Given the description of an element on the screen output the (x, y) to click on. 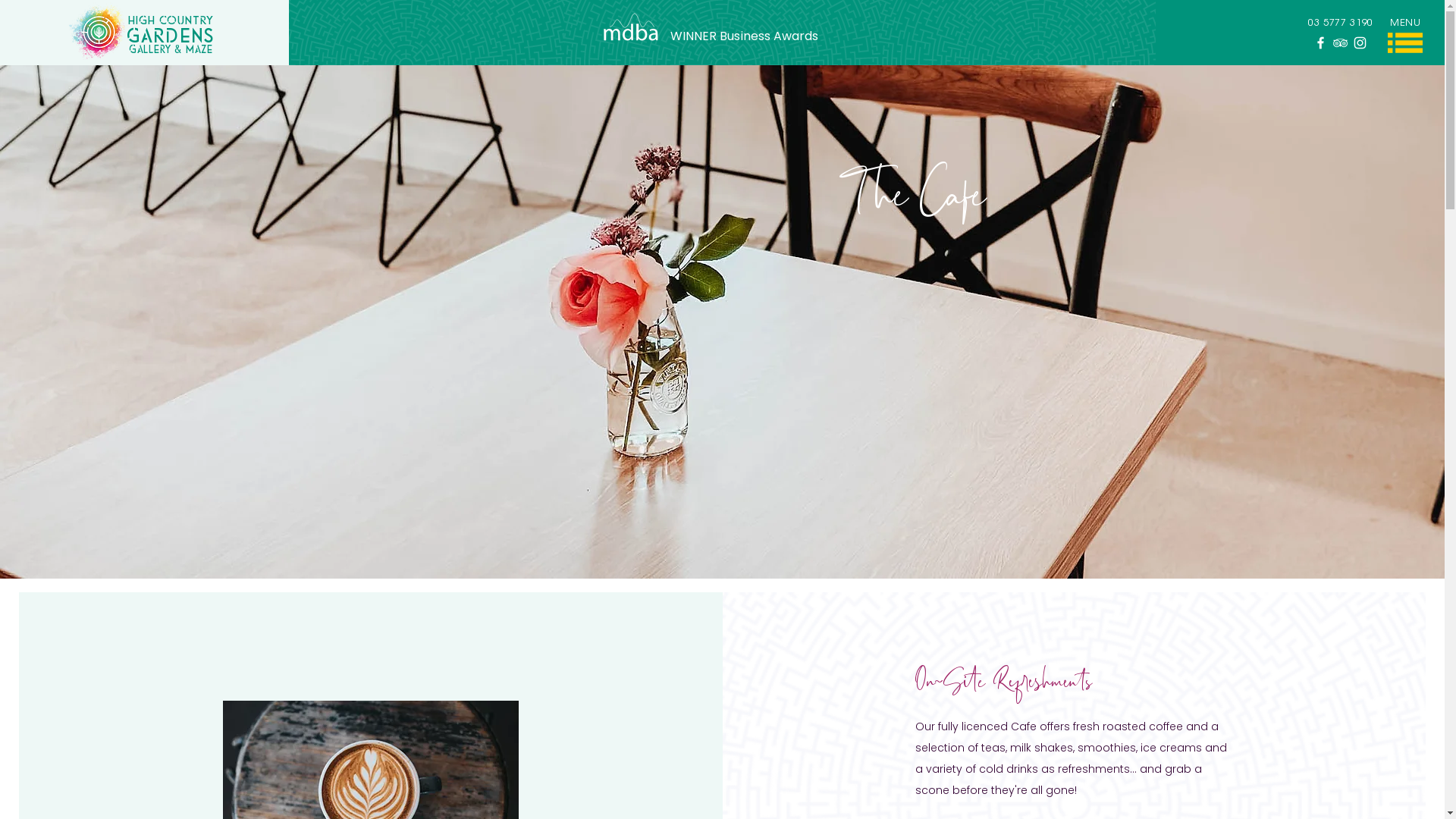
GARDENS Element type: text (170, 34)
MENU Element type: text (1405, 22)
03 5777 3190 Element type: text (1340, 22)
